Given the description of an element on the screen output the (x, y) to click on. 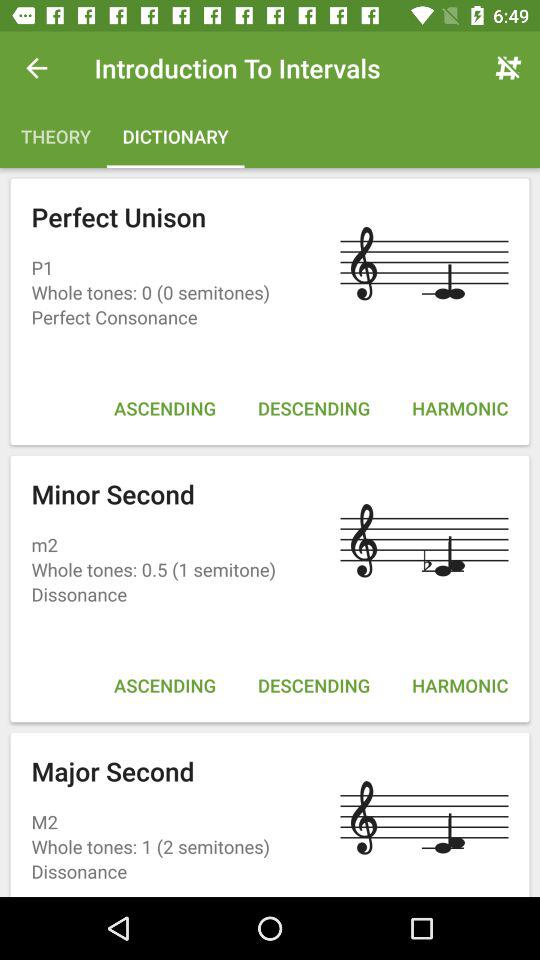
launch the item next to introduction to intervals item (508, 67)
